Given the description of an element on the screen output the (x, y) to click on. 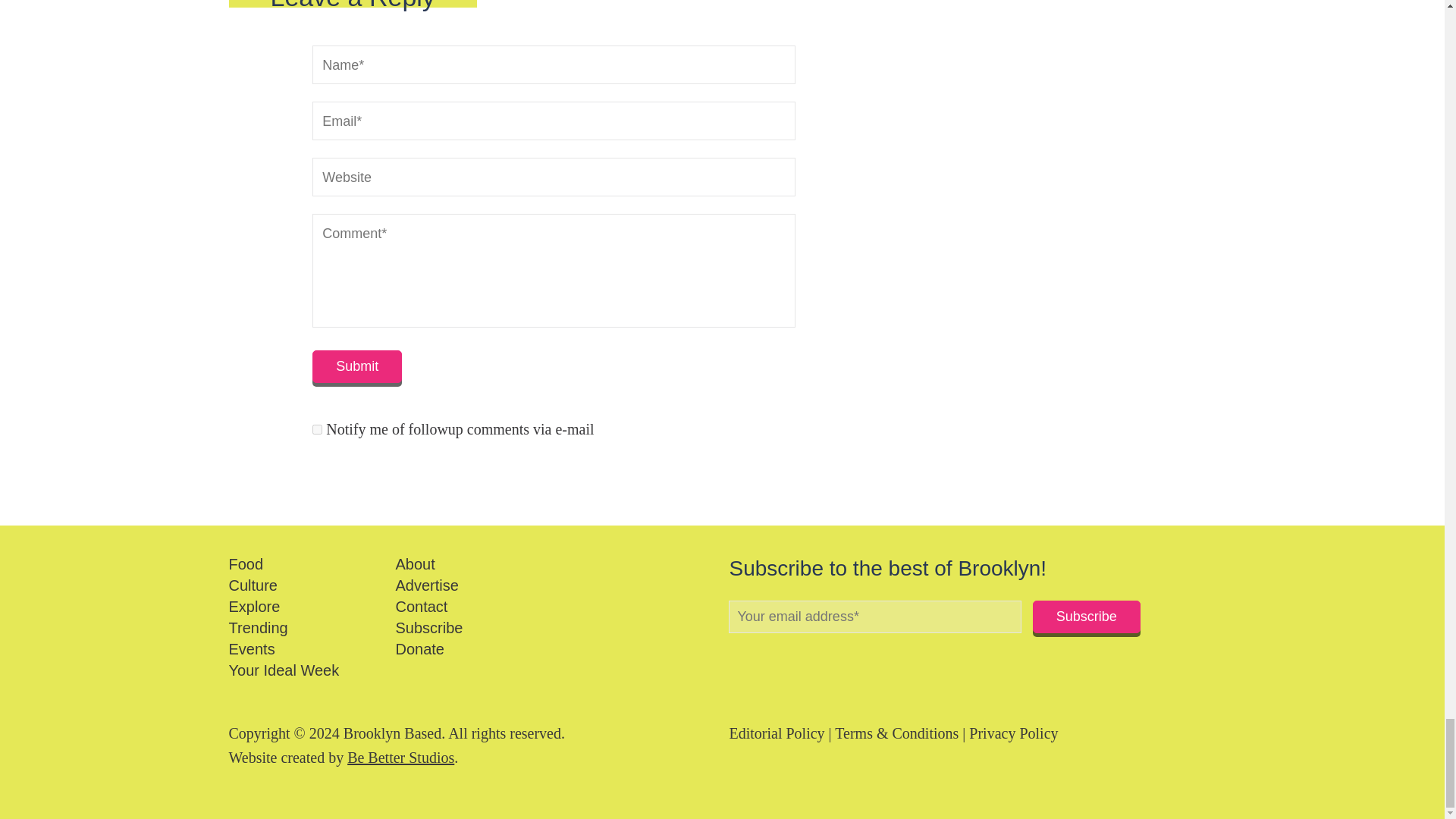
Submit (357, 366)
Follow Brooklyn Based on Twitter (759, 656)
Visit Brooklyn Based on Facebook (734, 656)
Subscribe (1086, 616)
Submit (357, 366)
Culture (253, 585)
Food (245, 564)
subscribe (317, 429)
